Given the description of an element on the screen output the (x, y) to click on. 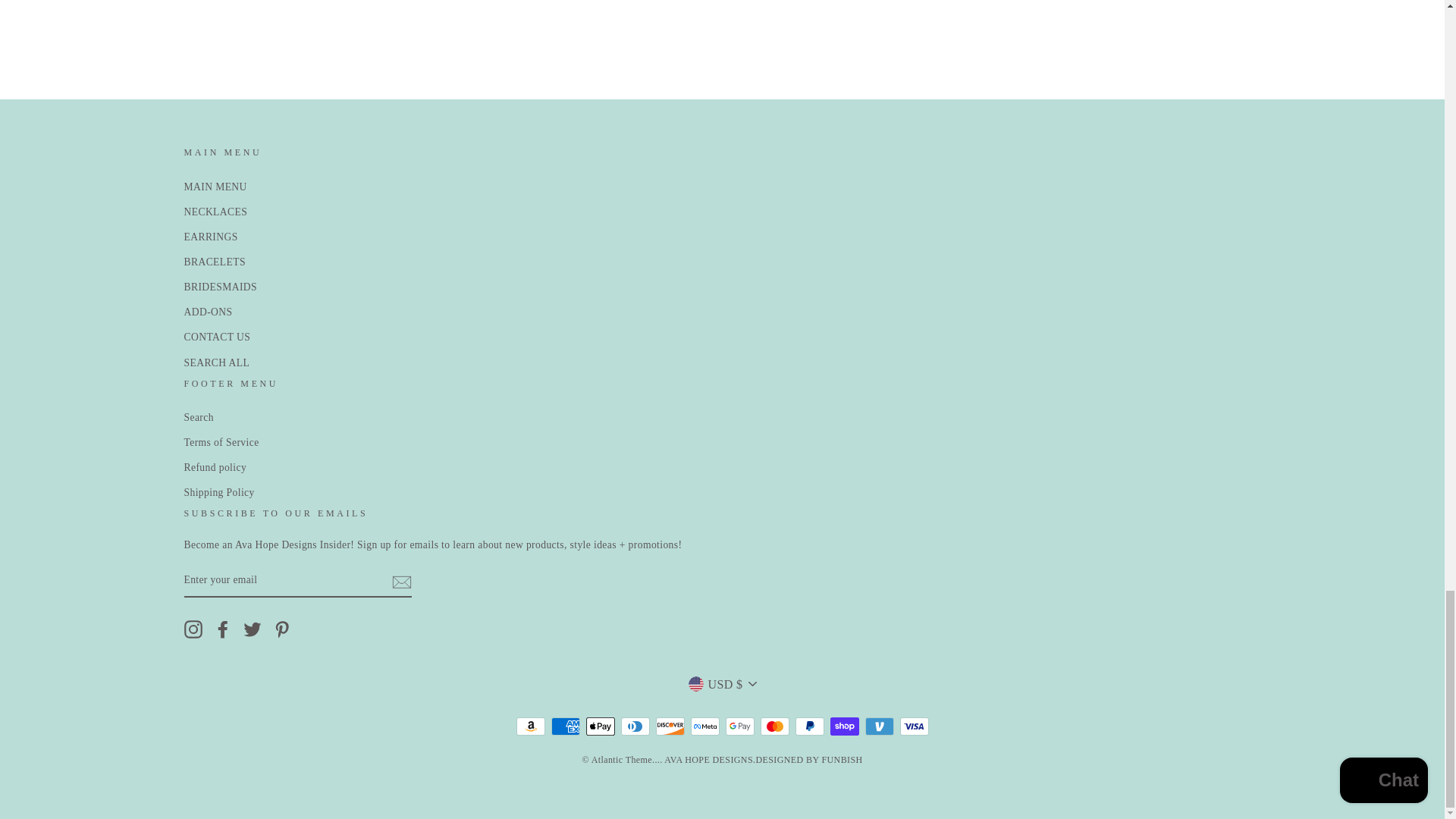
Google Pay (739, 726)
Ava Hope Designs on Instagram (192, 628)
Ava Hope Designs on Twitter (251, 628)
Discover (669, 726)
Ava Hope Designs on Pinterest (282, 628)
Diners Club (634, 726)
Meta Pay (704, 726)
Mastercard (774, 726)
Amazon (529, 726)
American Express (564, 726)
